Given the description of an element on the screen output the (x, y) to click on. 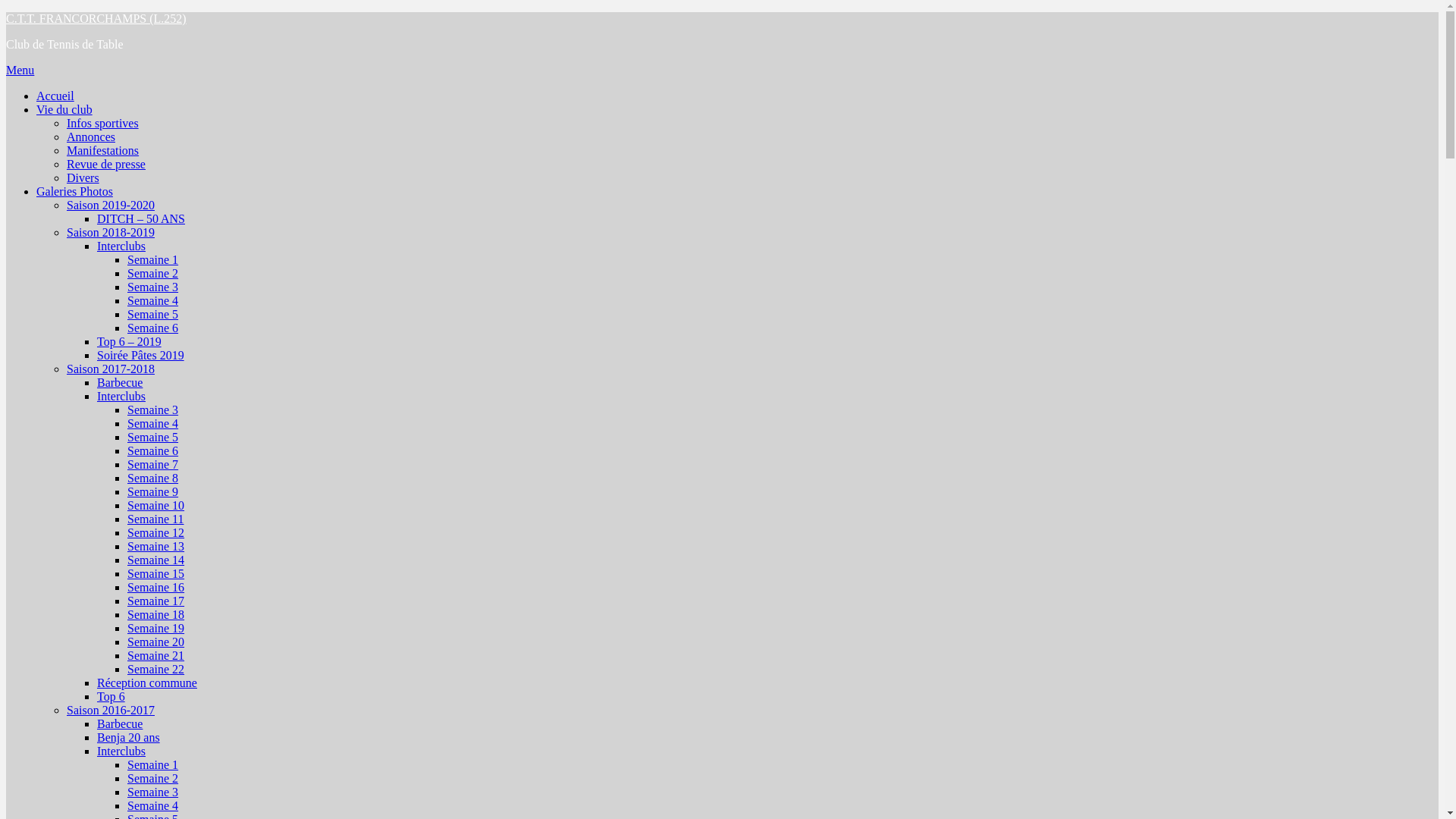
Galeries Photos Element type: text (74, 191)
Divers Element type: text (82, 177)
Top 6 Element type: text (111, 696)
Interclubs Element type: text (121, 245)
Semaine 3 Element type: text (152, 791)
Semaine 2 Element type: text (152, 272)
Barbecue Element type: text (119, 723)
Semaine 10 Element type: text (155, 504)
Semaine 6 Element type: text (152, 327)
Infos sportives Element type: text (102, 122)
Semaine 1 Element type: text (152, 259)
Semaine 18 Element type: text (155, 614)
Manifestations Element type: text (102, 150)
Semaine 13 Element type: text (155, 545)
Vie du club Element type: text (64, 109)
Semaine 4 Element type: text (152, 805)
Saison 2017-2018 Element type: text (110, 368)
Saison 2016-2017 Element type: text (110, 709)
Annonces Element type: text (90, 136)
Barbecue Element type: text (119, 382)
Semaine 1 Element type: text (152, 764)
Benja 20 ans Element type: text (128, 737)
Saison 2019-2020 Element type: text (110, 204)
Accueil Element type: text (55, 95)
Semaine 7 Element type: text (152, 464)
Semaine 6 Element type: text (152, 450)
Semaine 16 Element type: text (155, 586)
Semaine 14 Element type: text (155, 559)
Semaine 3 Element type: text (152, 286)
Semaine 12 Element type: text (155, 532)
Semaine 22 Element type: text (155, 668)
Semaine 4 Element type: text (152, 423)
Semaine 15 Element type: text (155, 573)
Semaine 21 Element type: text (155, 655)
C.T.T. FRANCORCHAMPS (L.252) Element type: text (96, 18)
Semaine 3 Element type: text (152, 409)
Semaine 8 Element type: text (152, 477)
Semaine 4 Element type: text (152, 300)
Semaine 5 Element type: text (152, 313)
Menu Element type: text (20, 69)
Saison 2018-2019 Element type: text (110, 231)
Interclubs Element type: text (121, 395)
Interclubs Element type: text (121, 750)
Semaine 20 Element type: text (155, 641)
Revue de presse Element type: text (105, 163)
Semaine 19 Element type: text (155, 627)
Semaine 2 Element type: text (152, 777)
Semaine 17 Element type: text (155, 600)
Semaine 9 Element type: text (152, 491)
Semaine 11 Element type: text (155, 518)
Semaine 5 Element type: text (152, 436)
